Given the description of an element on the screen output the (x, y) to click on. 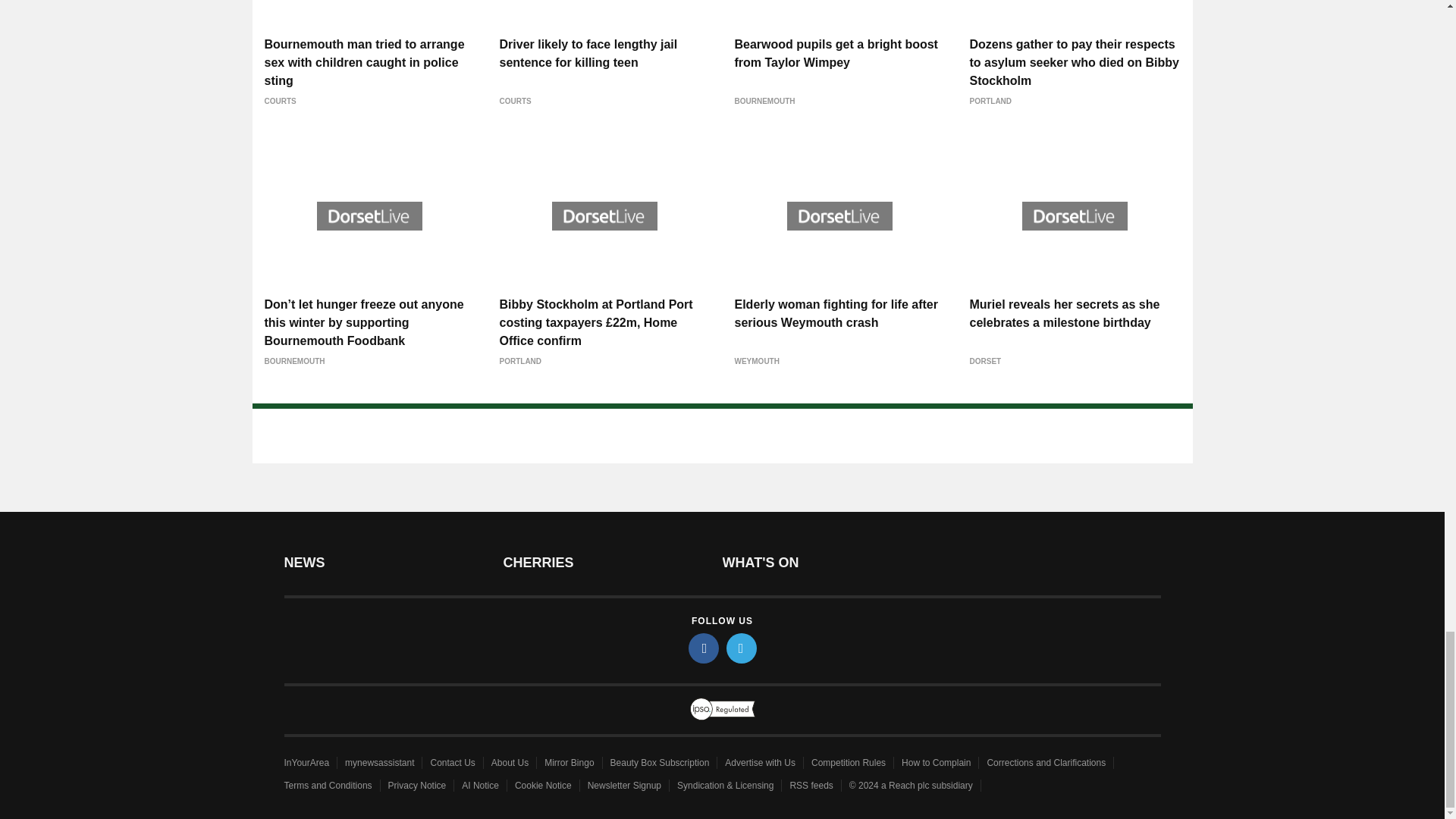
facebook (703, 648)
twitter (741, 648)
